Given the description of an element on the screen output the (x, y) to click on. 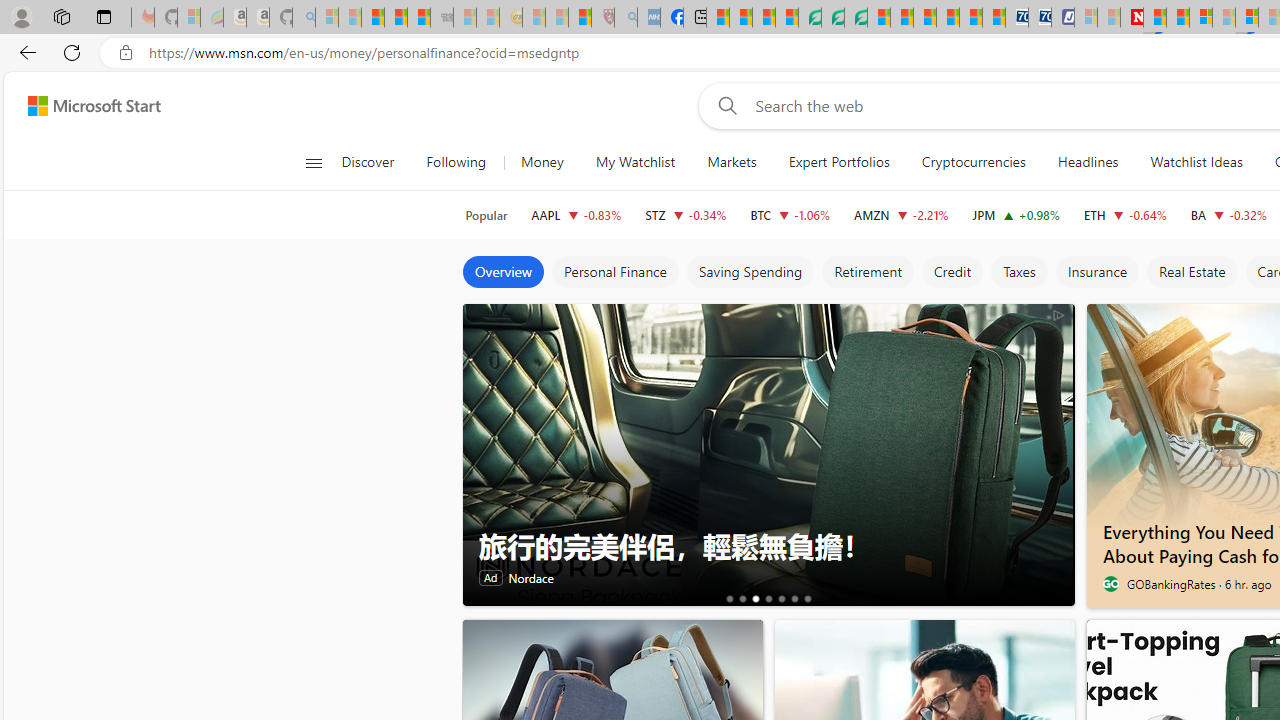
AdChoices (1058, 314)
Markets (732, 162)
STZ CONSTELLATION BRANDS, INC. decrease 243.92 -0.82 -0.34% (685, 214)
Watchlist Ideas (1196, 162)
Saving Spending (750, 272)
